Given the description of an element on the screen output the (x, y) to click on. 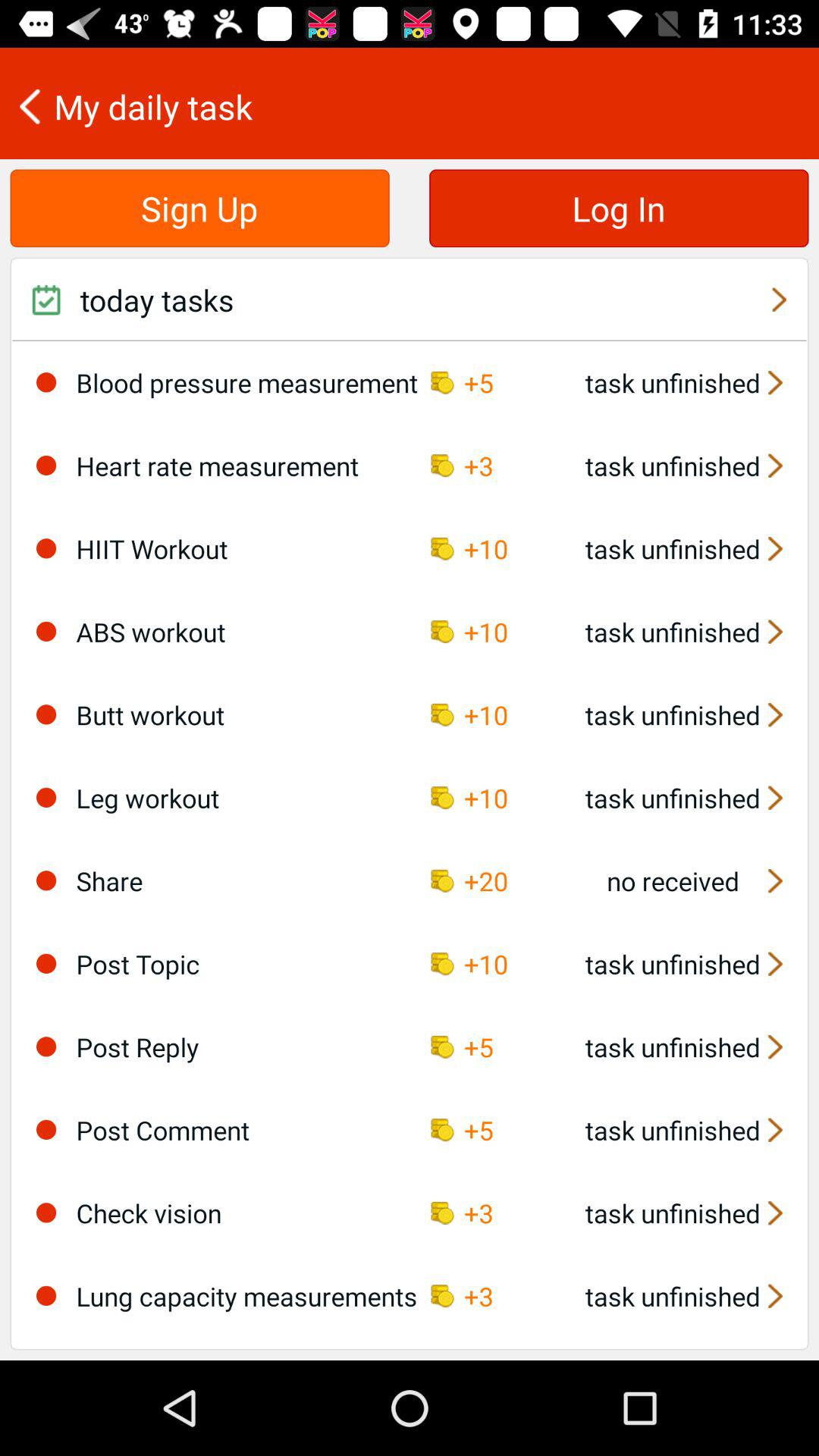
turn on icon to the left of the share (46, 880)
